Given the description of an element on the screen output the (x, y) to click on. 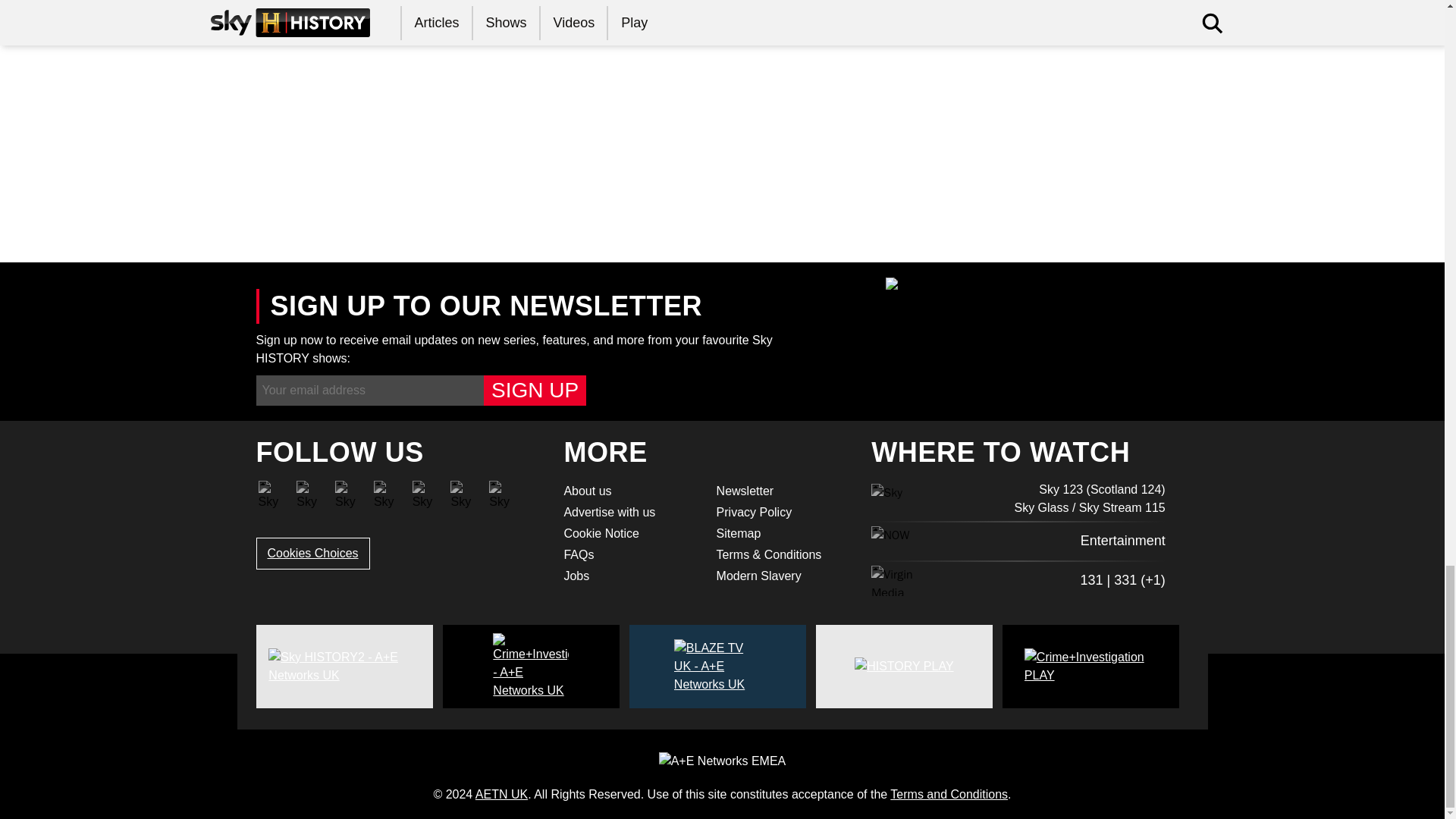
HISTORY Newsletter (783, 490)
Sign Up (534, 390)
Cookie Notice (630, 533)
FAQs (630, 554)
Sitemap (783, 533)
About us (630, 490)
Jobs (630, 575)
Advertise with us (630, 511)
Share (297, 200)
Privacy Policy (783, 511)
Newsletter (783, 490)
Sitemap of the site (783, 533)
Sign Up (534, 390)
Modern Slavery (783, 575)
Cookies Choices (312, 553)
